Given the description of an element on the screen output the (x, y) to click on. 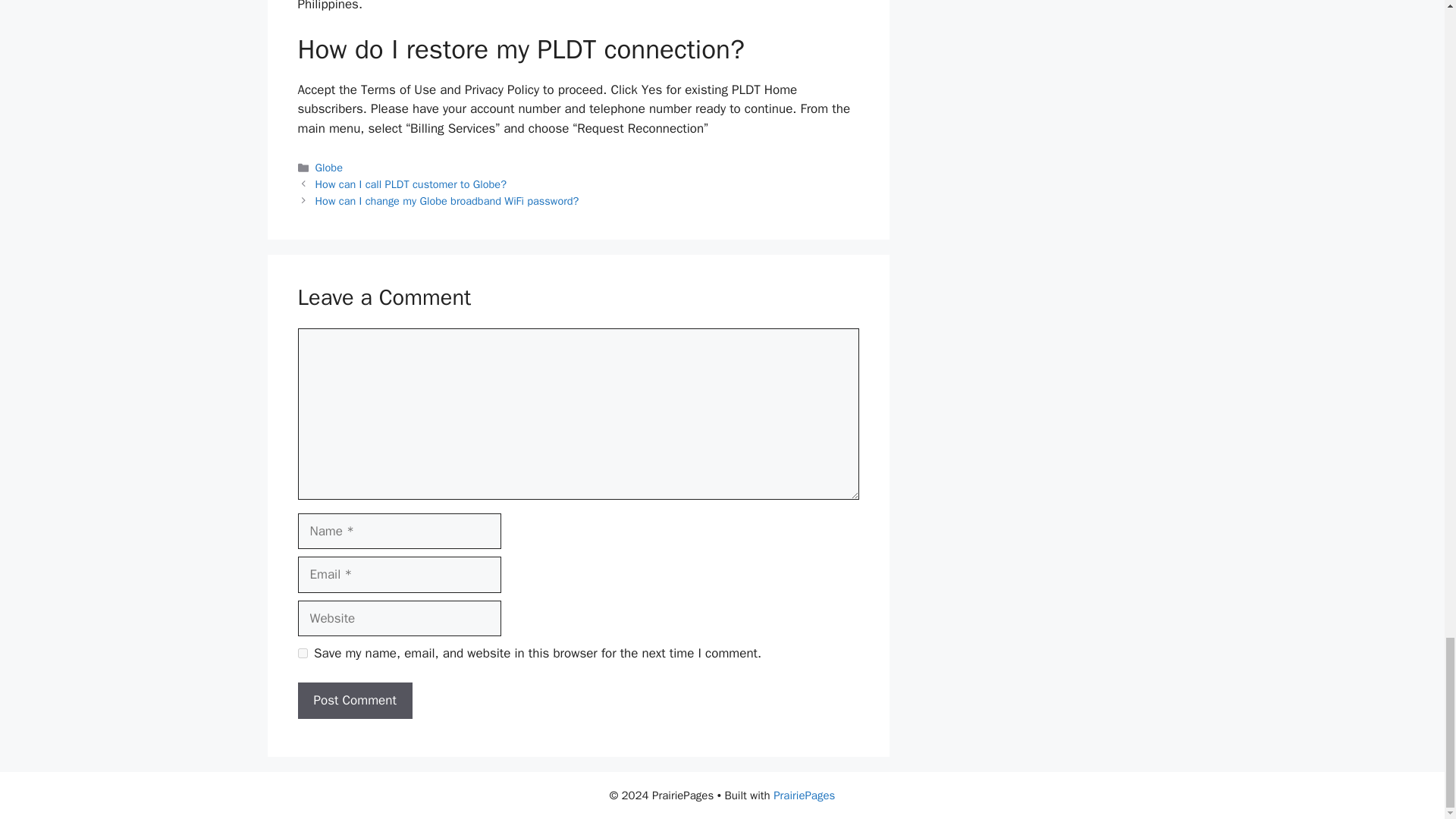
How can I change my Globe broadband WiFi password? (447, 201)
Post Comment (354, 700)
How can I call PLDT customer to Globe? (410, 183)
yes (302, 653)
Globe (328, 167)
Post Comment (354, 700)
